Given the description of an element on the screen output the (x, y) to click on. 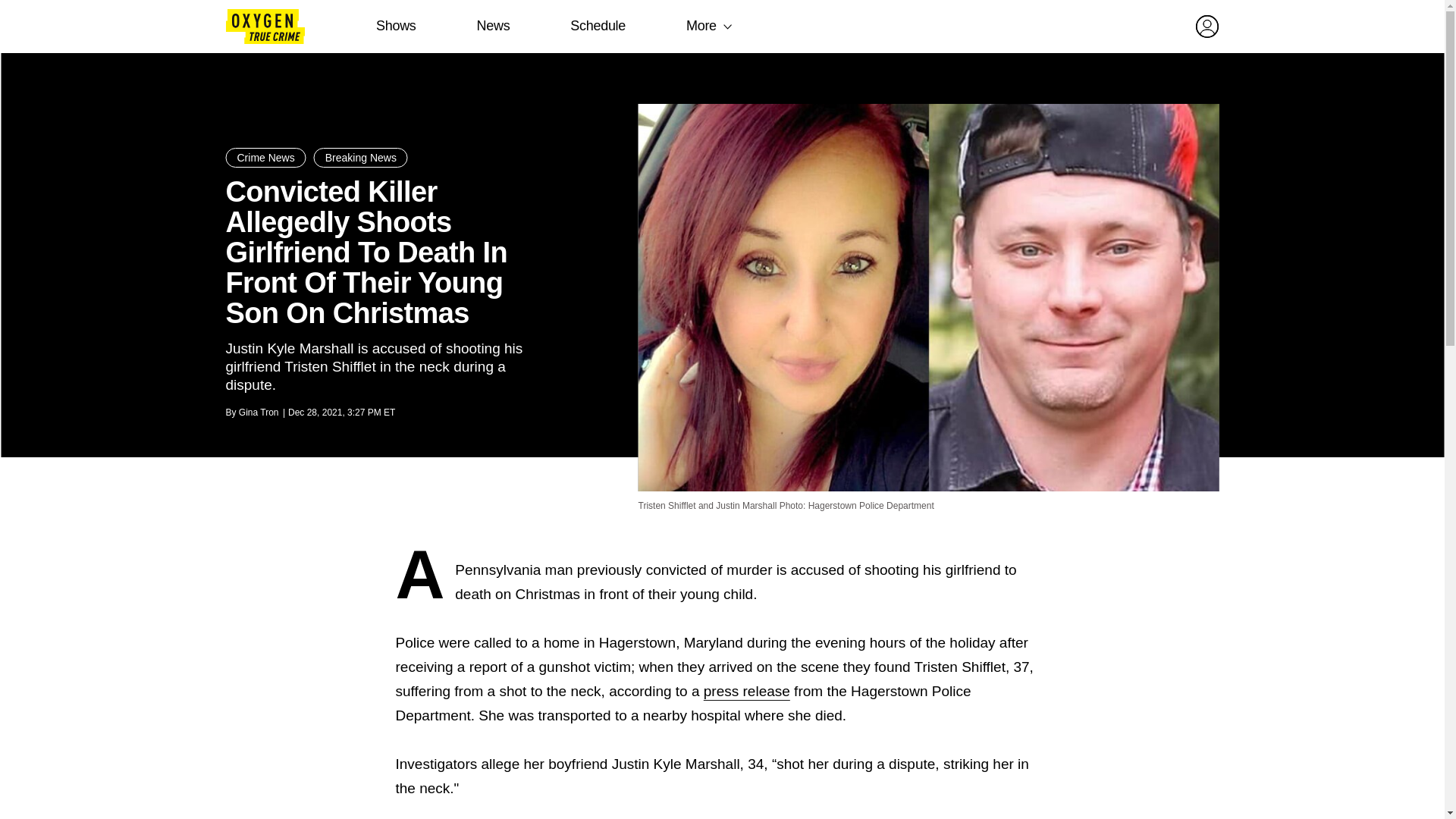
press release (746, 691)
Crime News (265, 157)
Schedule (598, 26)
Gina Tron (258, 412)
Shows (395, 26)
More (700, 26)
Breaking News (360, 157)
News (492, 26)
